Given the description of an element on the screen output the (x, y) to click on. 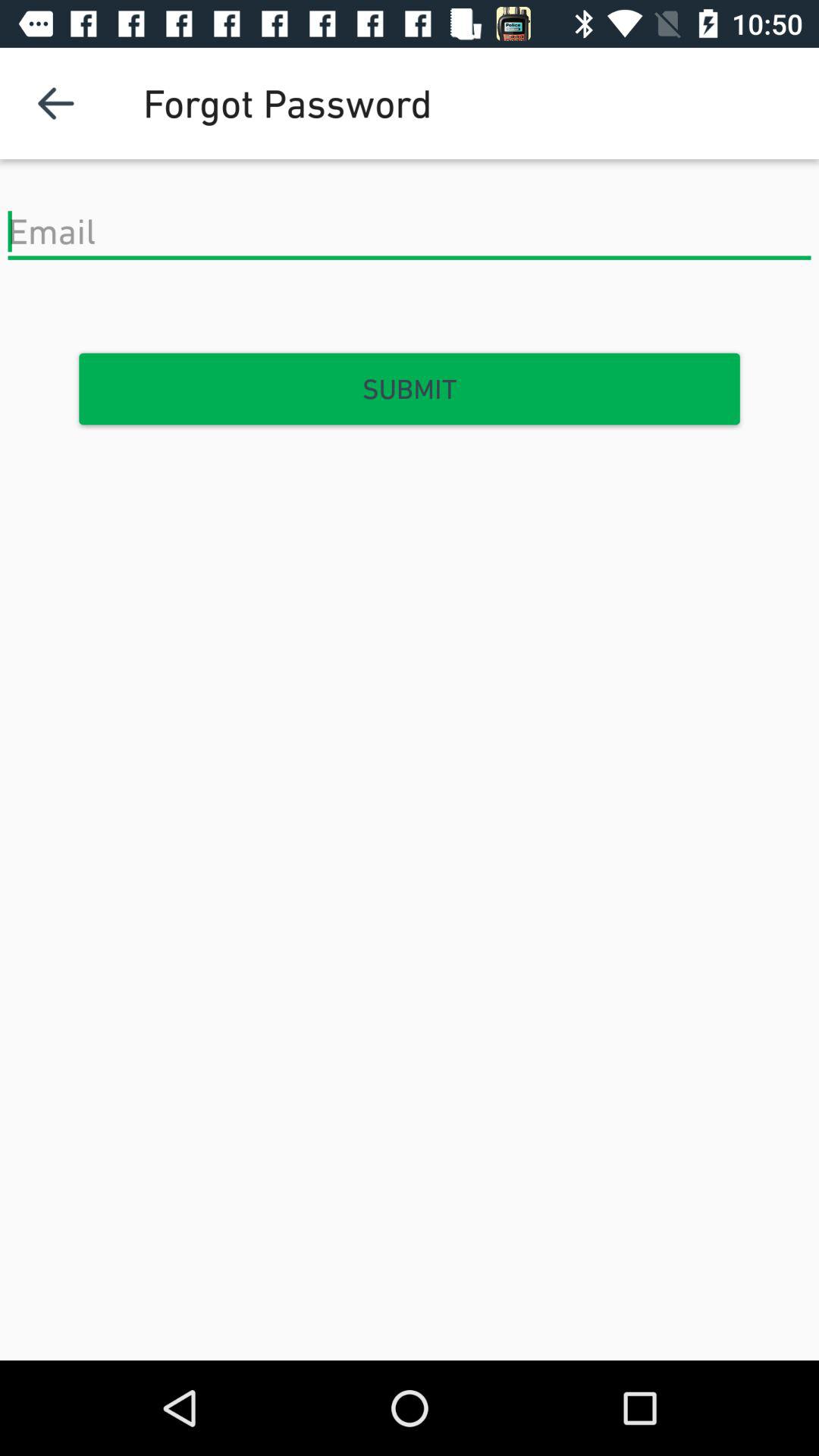
launch submit item (409, 388)
